Given the description of an element on the screen output the (x, y) to click on. 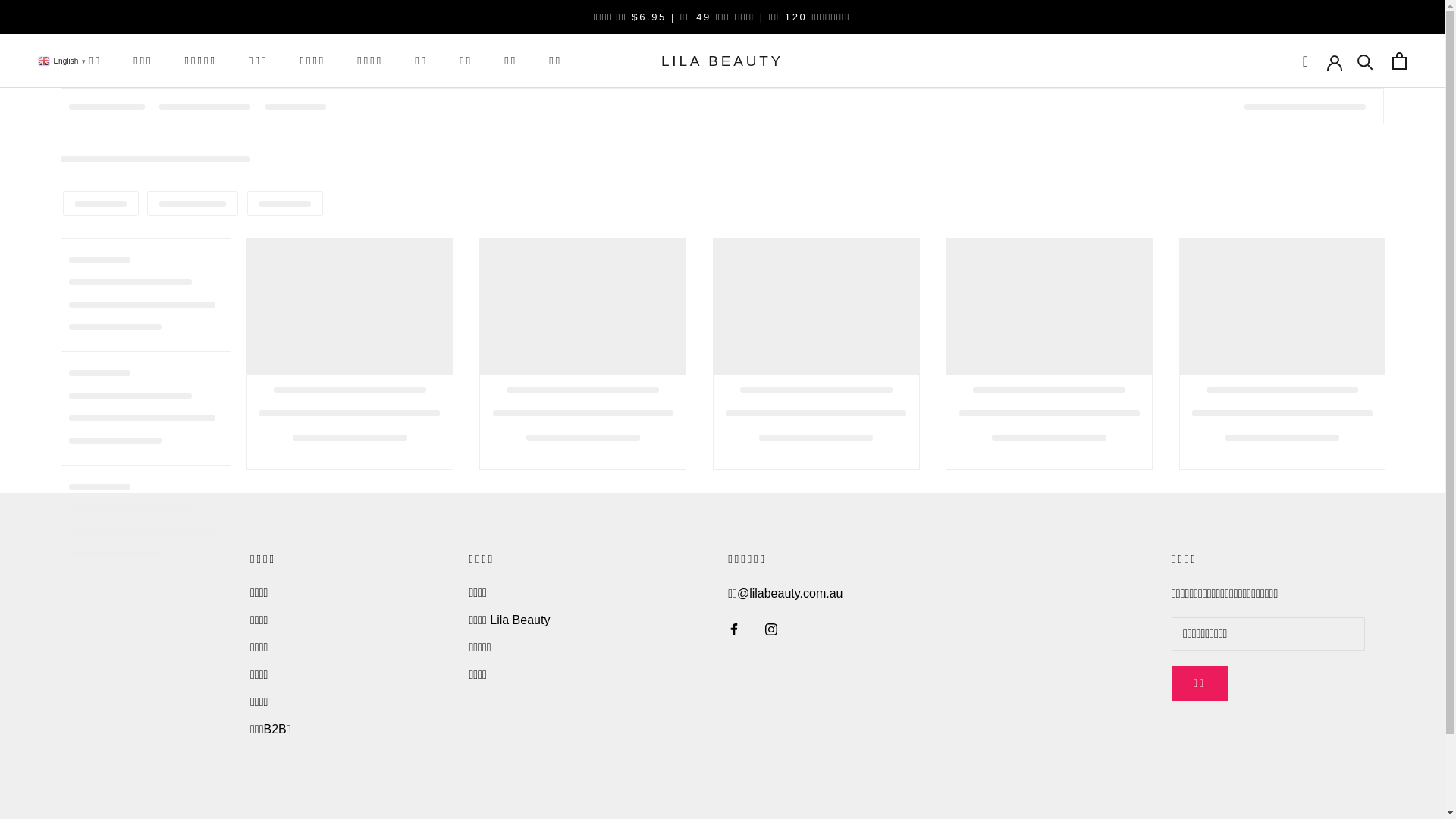
LILA BEAUTY Element type: text (722, 60)
